Given the description of an element on the screen output the (x, y) to click on. 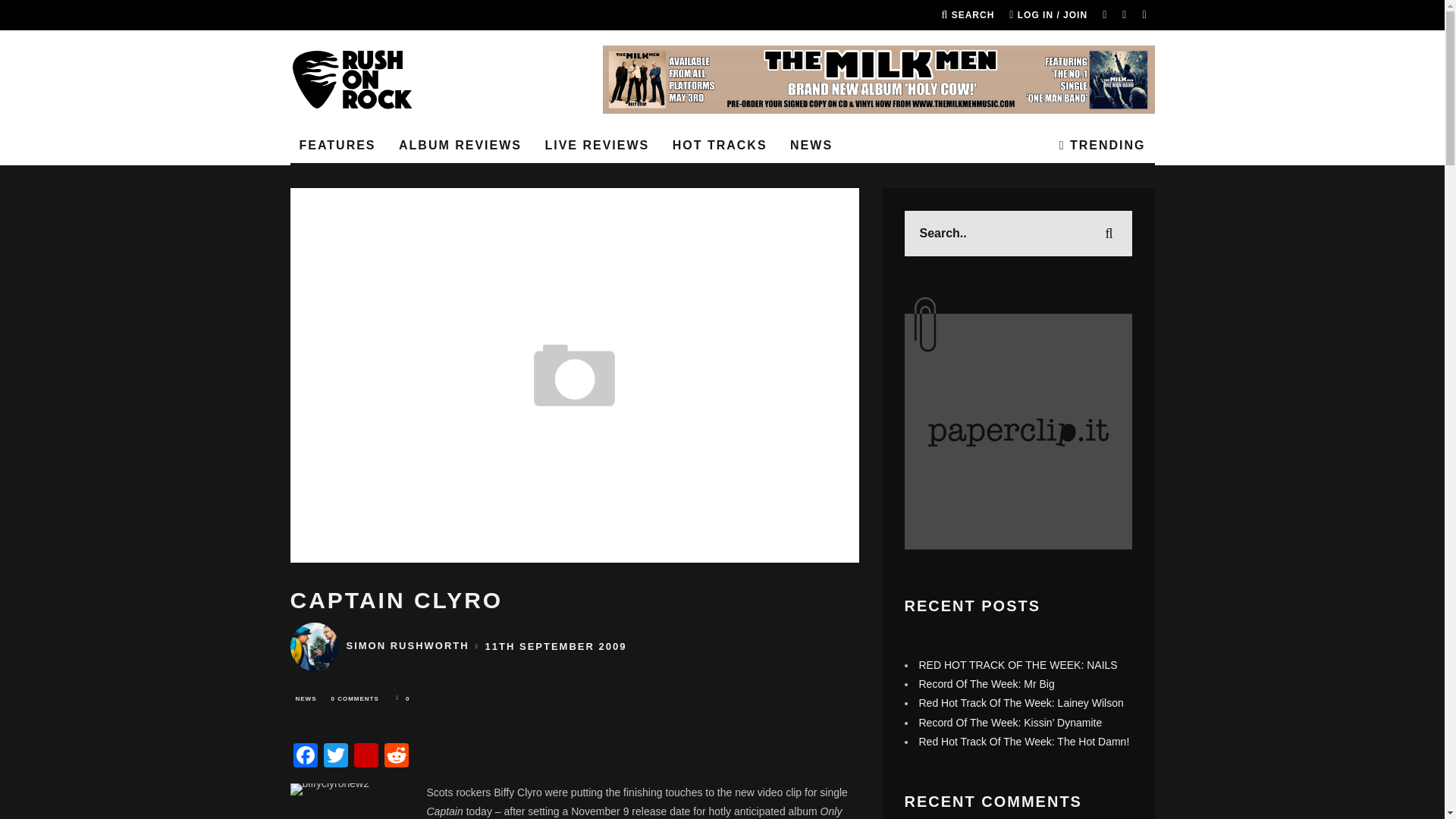
biffyclyronew2 (346, 800)
Twitter (335, 756)
View all posts in News (305, 699)
Log In (721, 409)
Facebook (304, 756)
Search (968, 15)
SEARCH (968, 15)
FEATURES (336, 145)
ALBUM REVIEWS (460, 145)
Flipboard (365, 756)
LIVE REVIEWS (596, 145)
Reddit (395, 756)
